Given the description of an element on the screen output the (x, y) to click on. 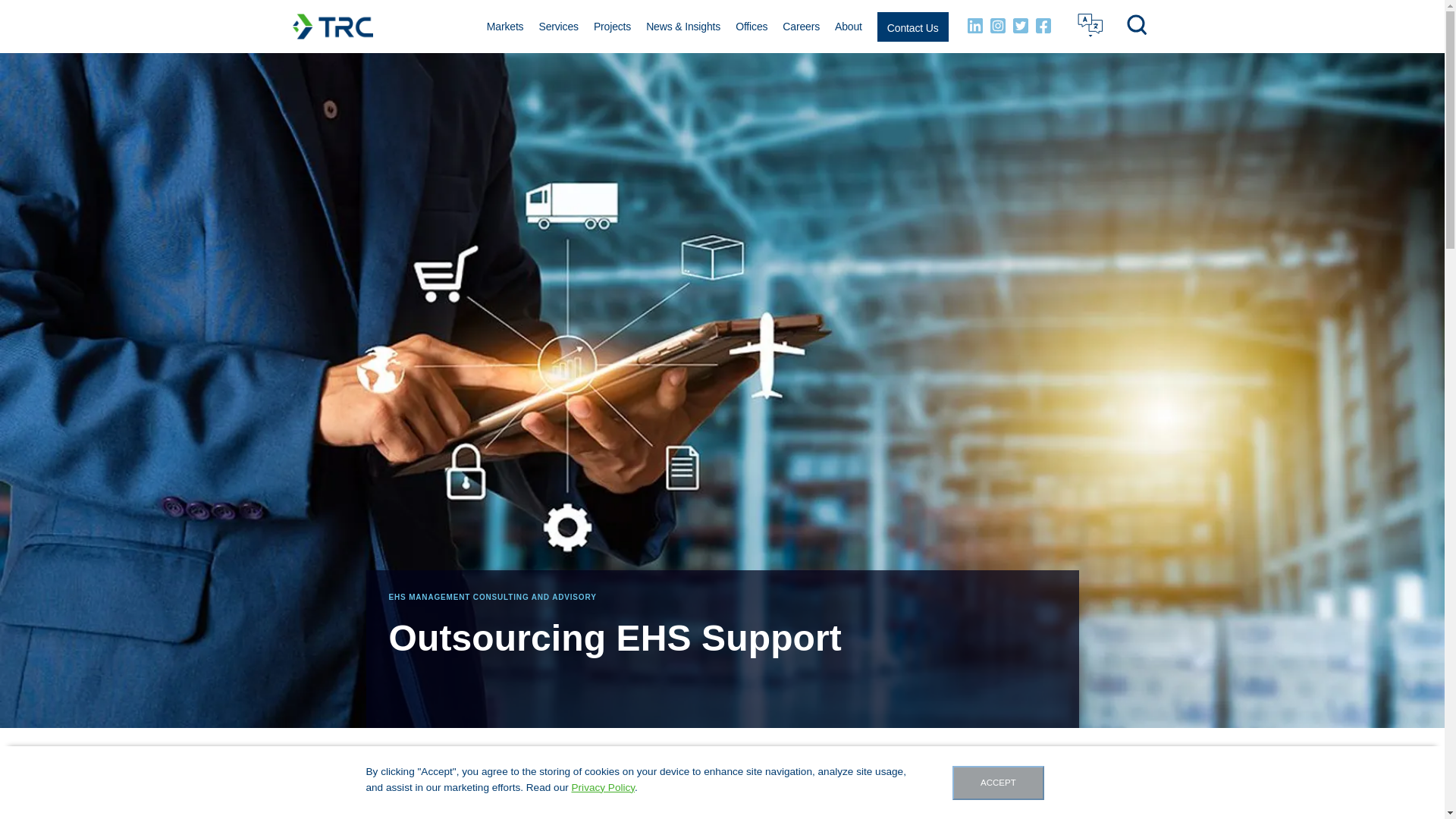
TRC (332, 26)
